Given the description of an element on the screen output the (x, y) to click on. 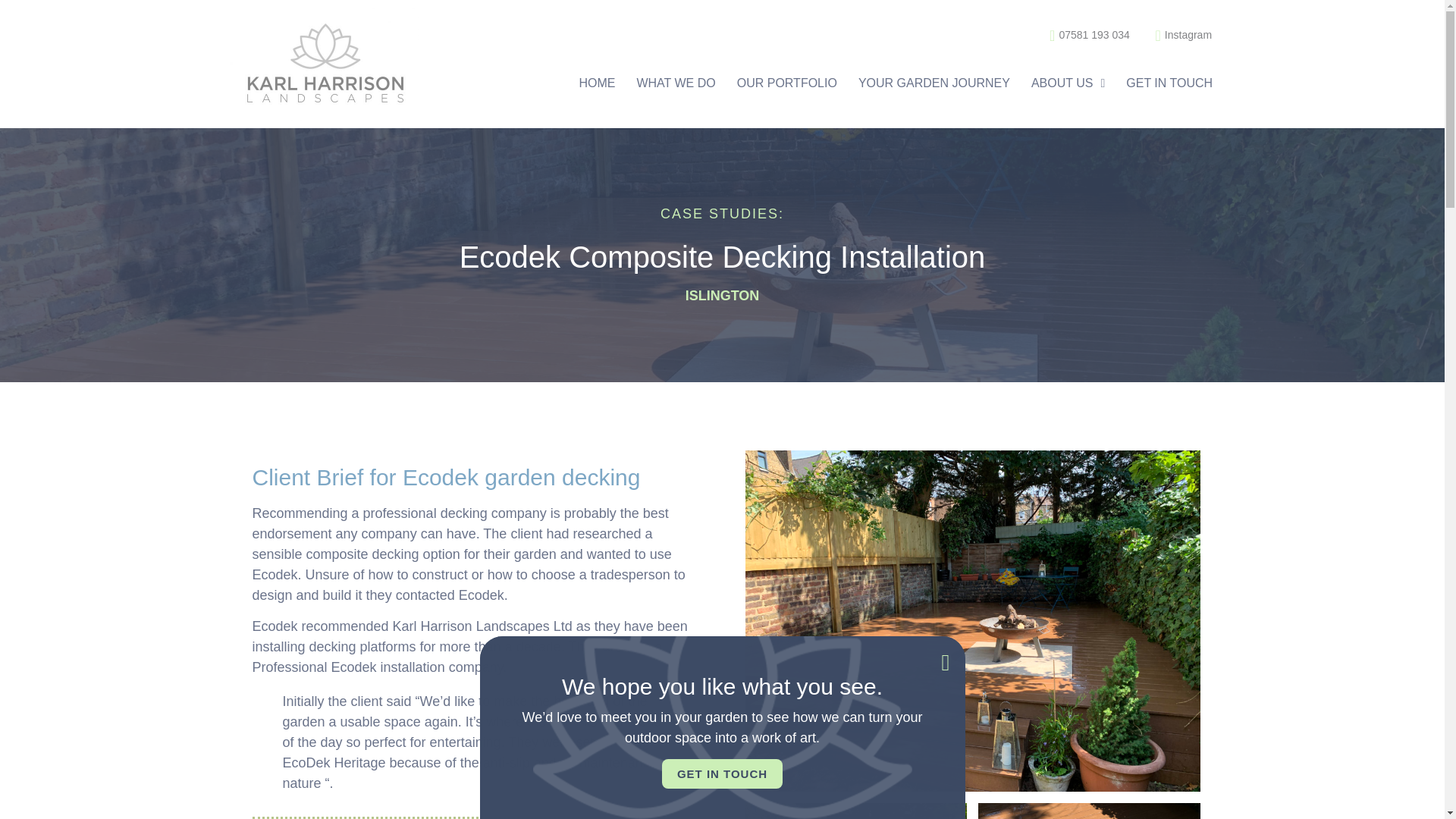
HOME (596, 83)
GET IN TOUCH (1169, 83)
WHAT WE DO (675, 83)
ABOUT US (1067, 83)
Instagram (1176, 35)
YOUR GARDEN JOURNEY (933, 83)
OUR PORTFOLIO (786, 83)
CASE STUDIES: (722, 213)
